Given the description of an element on the screen output the (x, y) to click on. 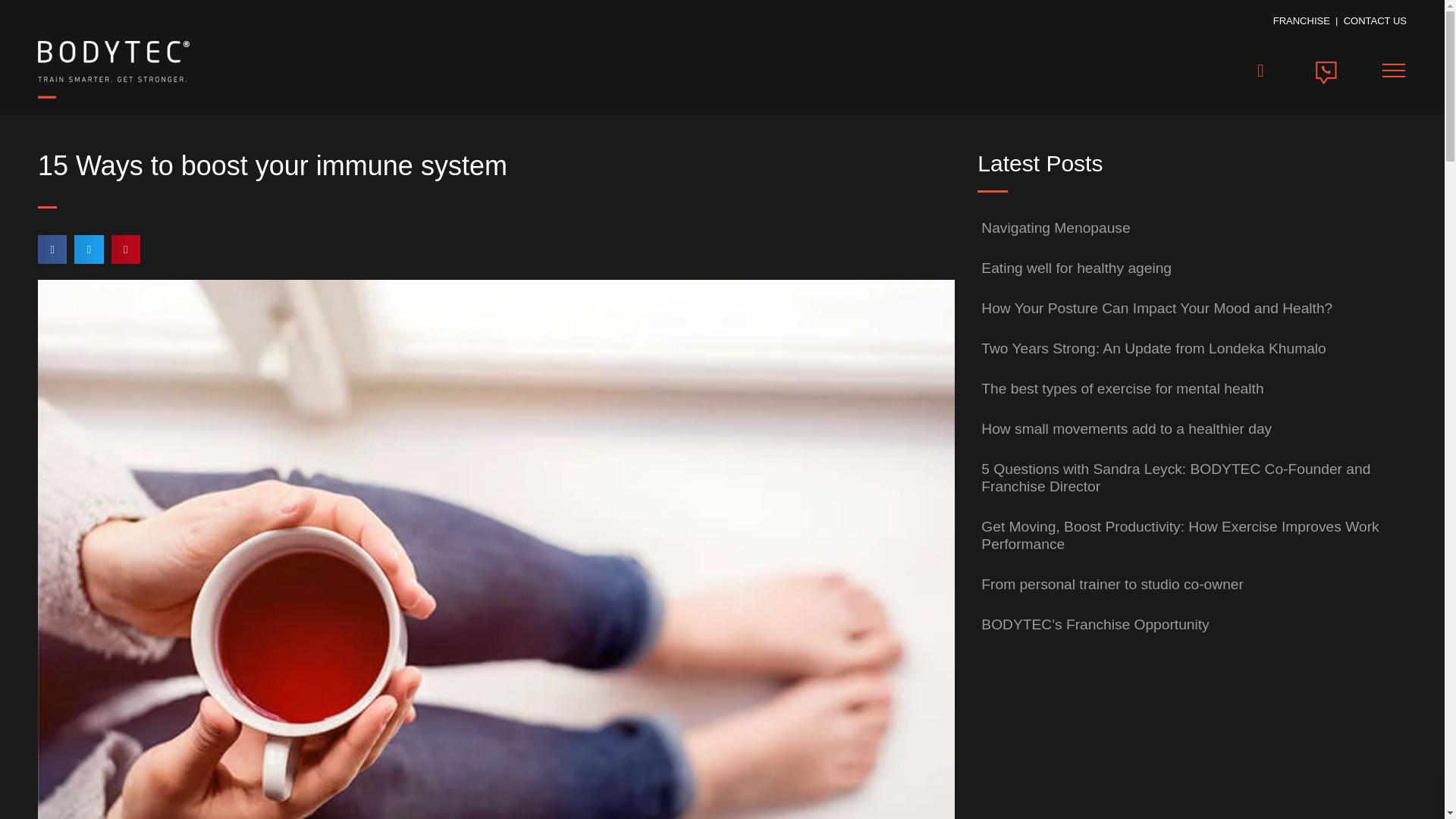
Eating well for healthy ageing (1076, 268)
How small movements add to a healthier day (1126, 428)
FRANCHISE (1301, 20)
Navigating Menopause (1055, 227)
How Your Posture Can Impact Your Mood and Health? (1156, 308)
The best types of exercise for mental health (1122, 388)
How Your Posture Can Impact Your Mood and Health? (1156, 308)
The best types of exercise for mental health (1122, 388)
CONTACT US (1374, 20)
Two Years Strong: An Update from Londeka Khumalo (1152, 348)
Eating well for healthy ageing (1076, 268)
From personal trainer to studio co-owner (1112, 584)
Two Years Strong: An Update from Londeka Khumalo (1152, 348)
